Given the description of an element on the screen output the (x, y) to click on. 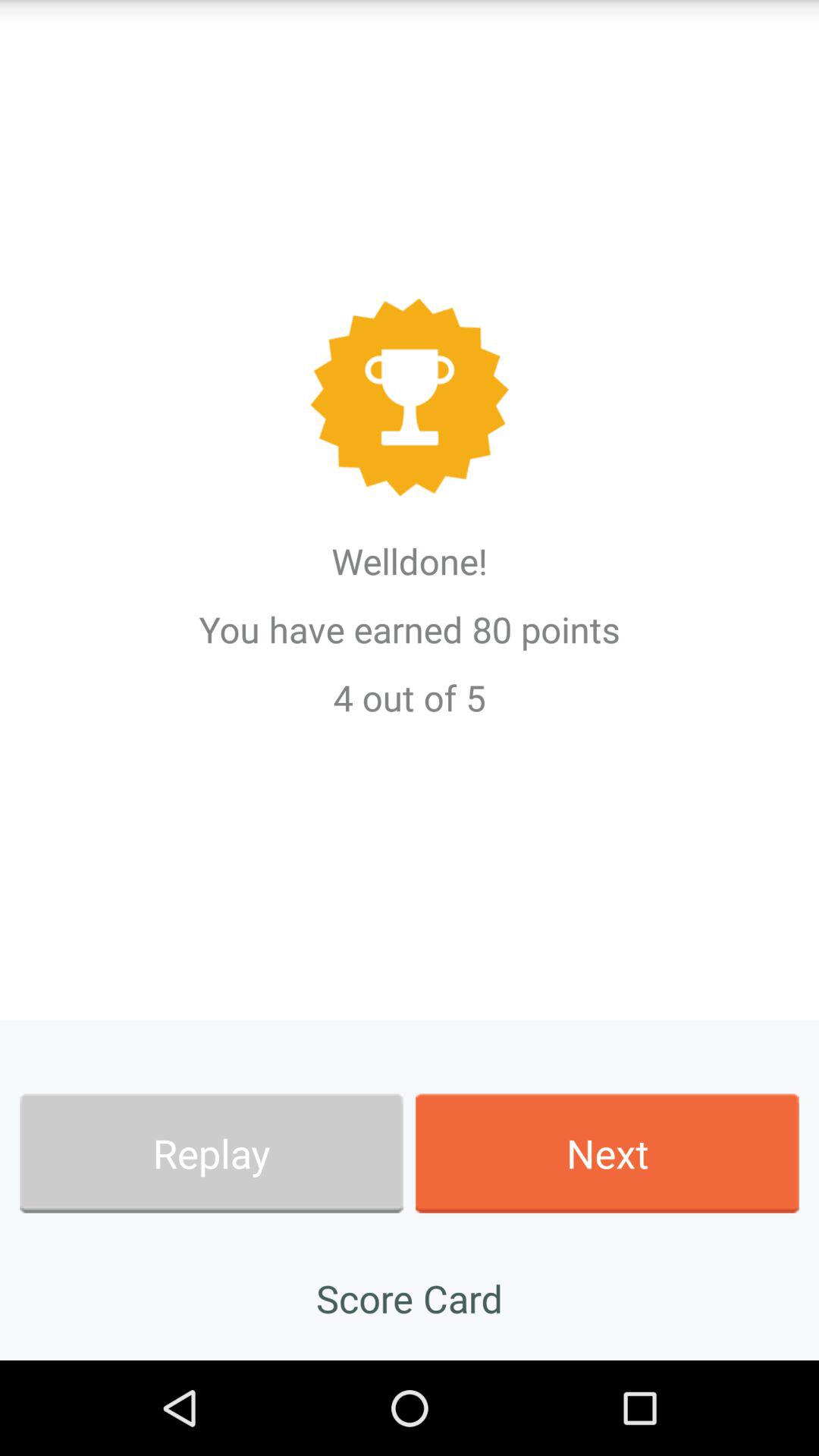
select replay item (211, 1153)
